Given the description of an element on the screen output the (x, y) to click on. 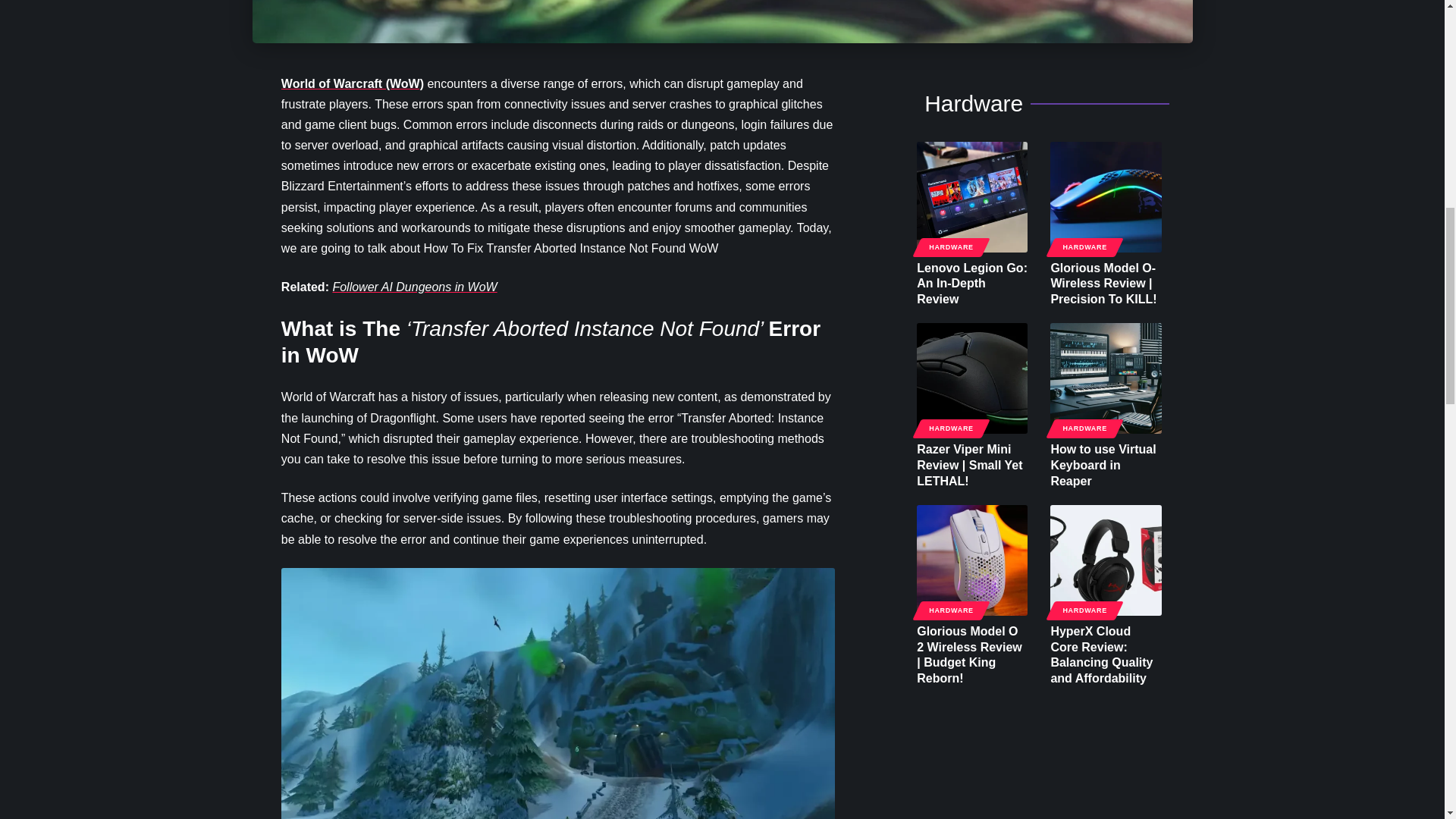
Follower AI Dungeons in WoW (413, 286)
How to use Virtual Keyboard in Reaper (1104, 378)
Lenovo Legion Go: An In-Depth Review (972, 195)
